Given the description of an element on the screen output the (x, y) to click on. 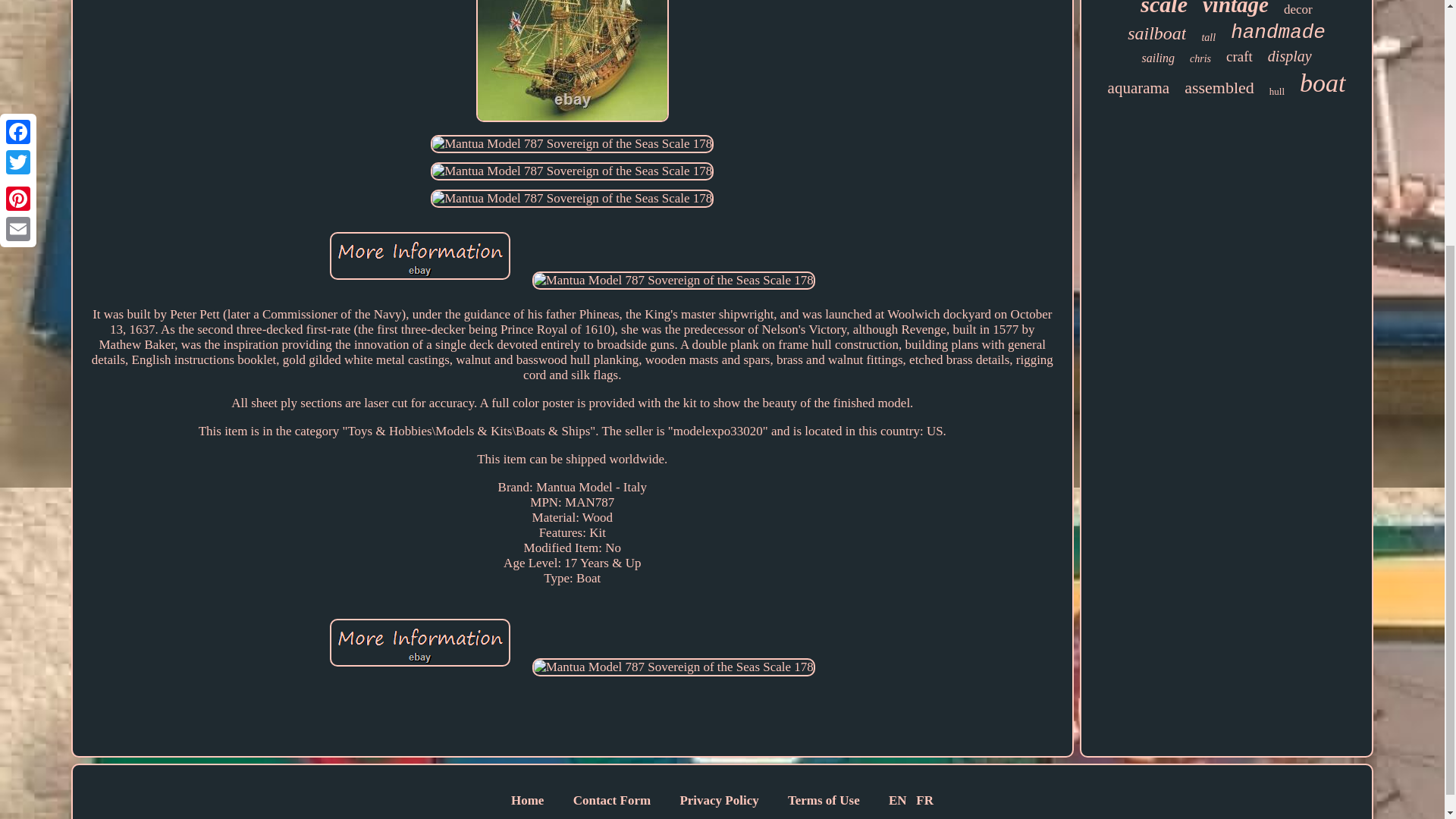
Mantua Model 787 Sovereign of the Seas Scale 178 (673, 280)
Mantua Model 787 Sovereign of the Seas Scale 178 (571, 198)
Mantua Model 787 Sovereign of the Seas Scale 178 (420, 642)
Mantua Model 787 Sovereign of the Seas Scale 178 (420, 255)
Mantua Model 787 Sovereign of the Seas Scale 178 (673, 667)
Mantua Model 787 Sovereign of the Seas Scale 178 (571, 144)
Mantua Model 787 Sovereign of the Seas Scale 178 (572, 61)
Mantua Model 787 Sovereign of the Seas Scale 178 (571, 171)
